Given the description of an element on the screen output the (x, y) to click on. 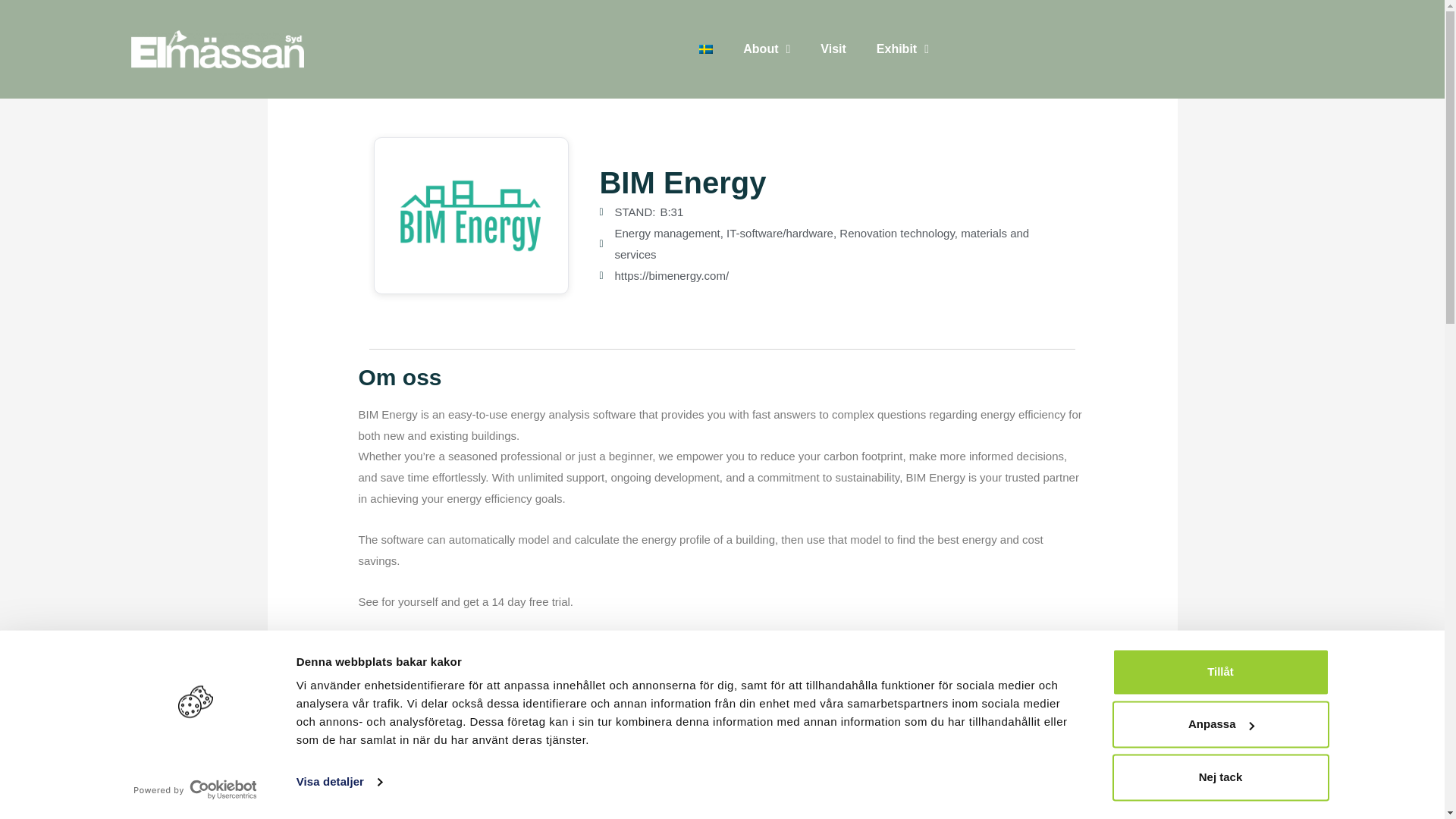
Visa detaljer (339, 782)
